Given the description of an element on the screen output the (x, y) to click on. 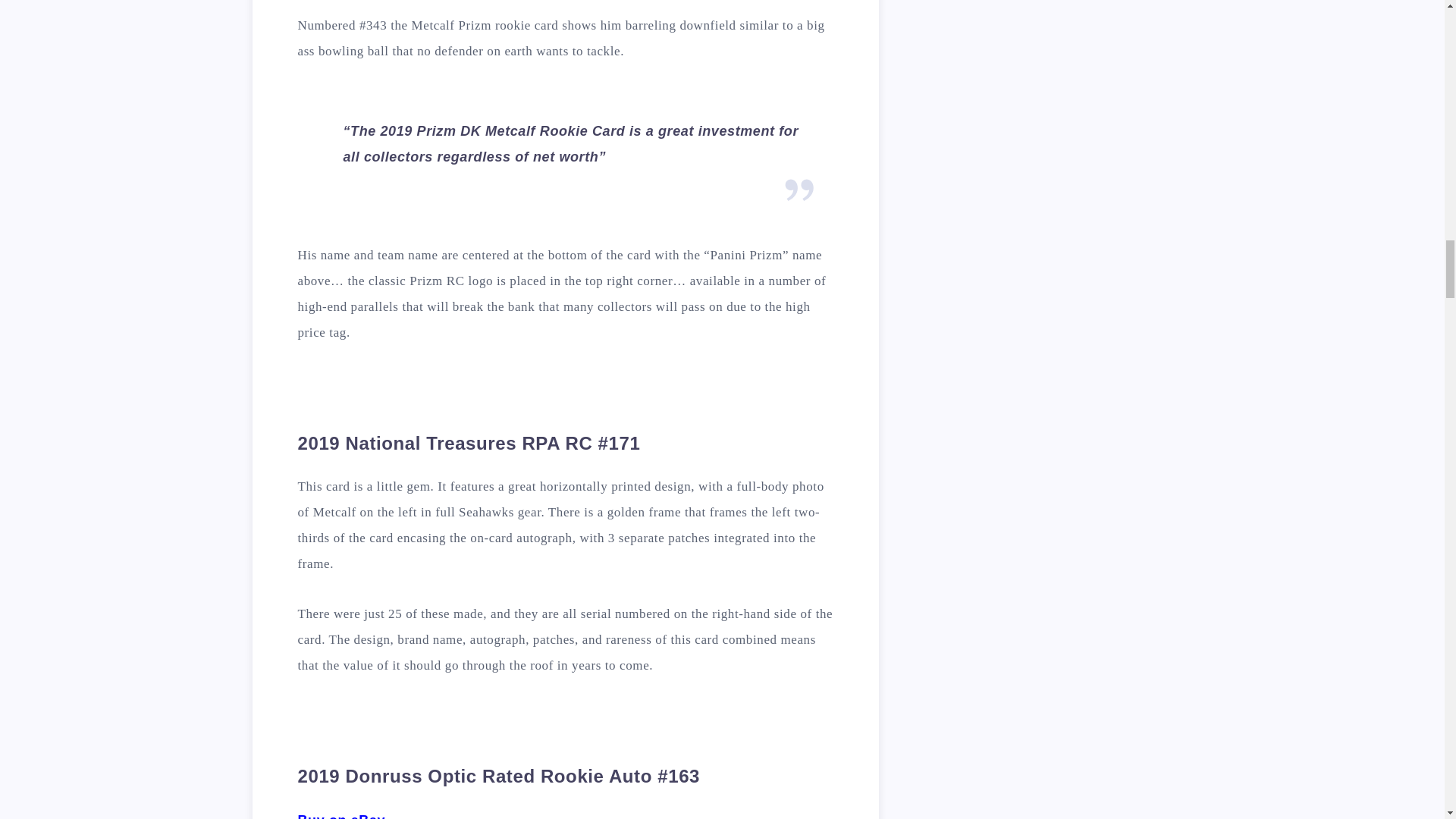
Buy on eBay (341, 816)
